Given the description of an element on the screen output the (x, y) to click on. 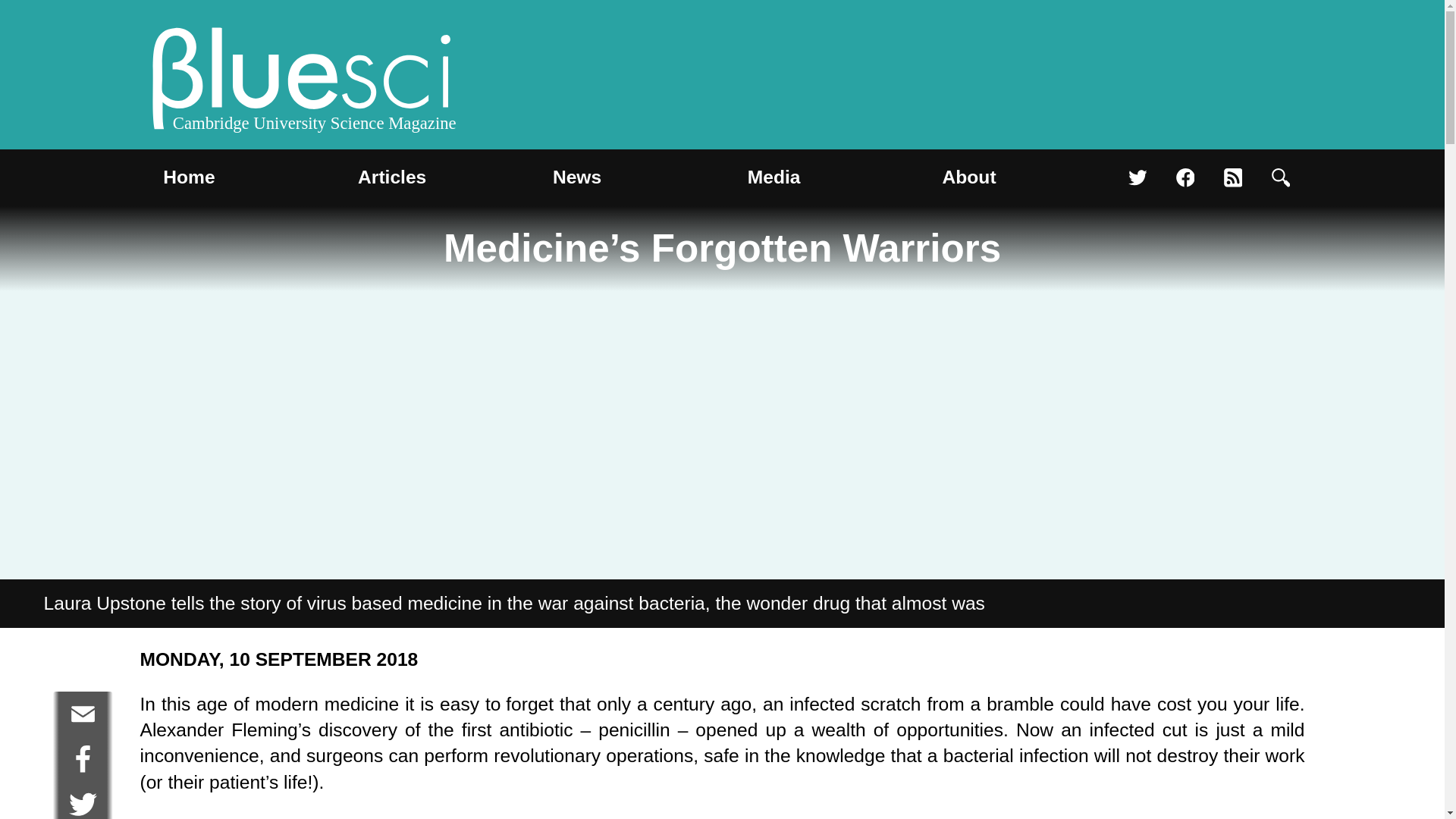
Home (188, 177)
Cambridge University Science Magazine (301, 82)
News (576, 177)
About (969, 177)
Articles (391, 177)
Cambridge University Science Magazine (301, 82)
